Given the description of an element on the screen output the (x, y) to click on. 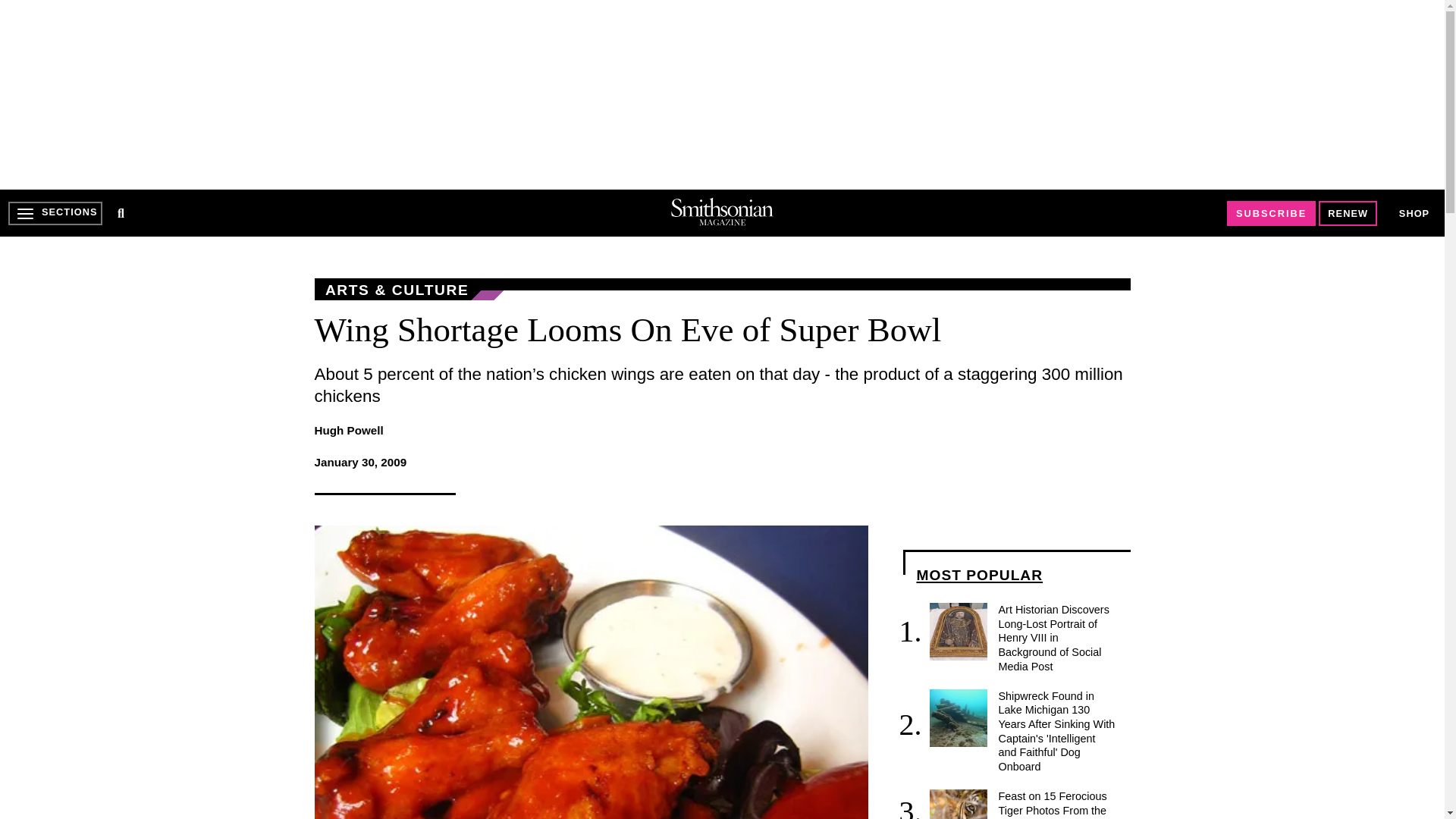
SUBSCRIBE (1271, 213)
SUBSCRIBE (1271, 212)
SHOP (1413, 212)
SECTIONS (55, 213)
SHOP (1414, 213)
RENEW (1347, 212)
RENEW (1348, 213)
